Given the description of an element on the screen output the (x, y) to click on. 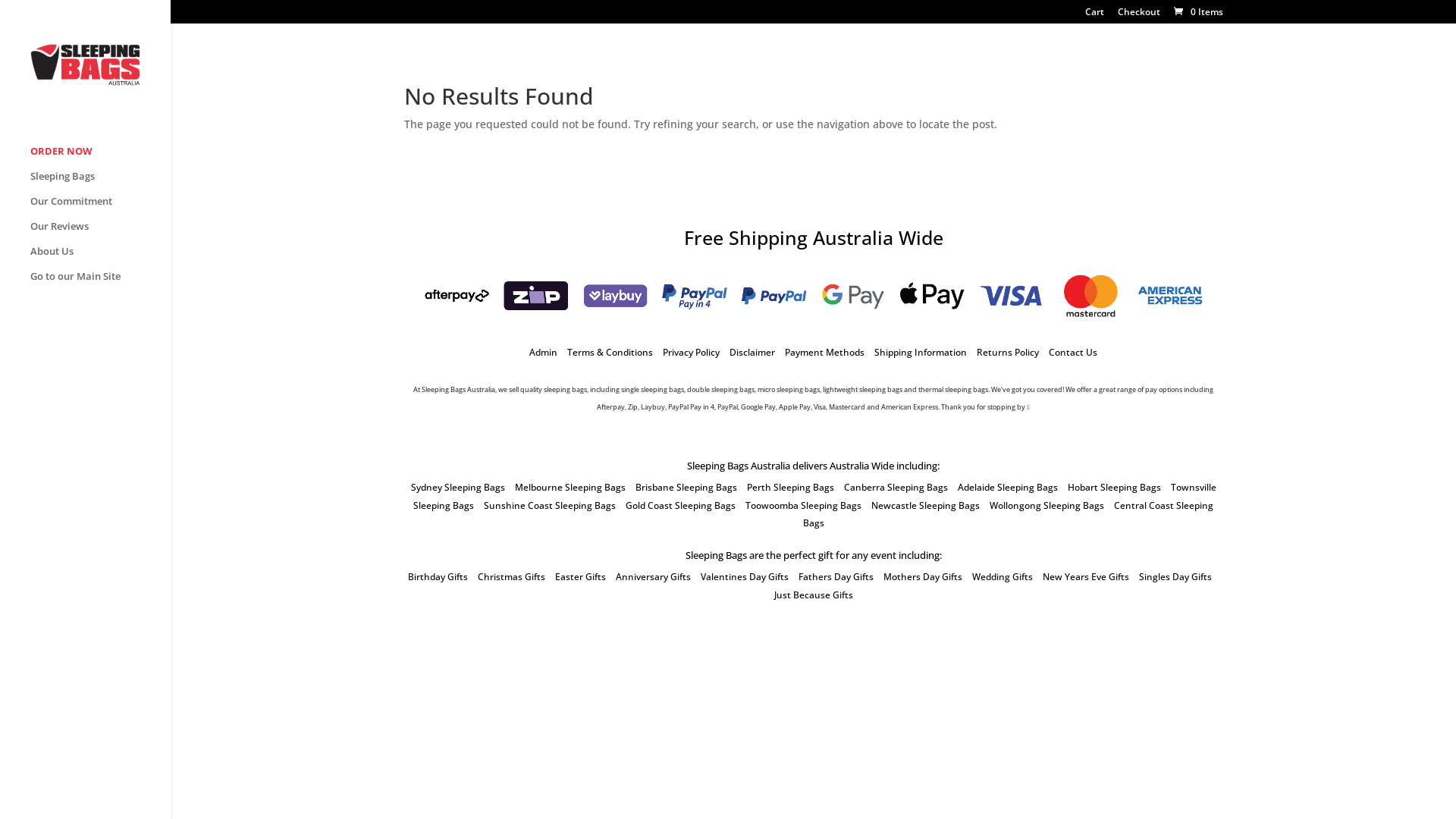
Townsville Sleeping Bags Element type: text (814, 495)
Easter Gifts Element type: text (580, 576)
Central Coast Sleeping Bags Element type: text (1007, 514)
Perth Sleeping Bags Element type: text (789, 486)
Our Reviews Element type: text (100, 232)
Admin Element type: text (543, 351)
Sleeping Bags Element type: text (100, 182)
Melbourne Sleeping Bags Element type: text (569, 486)
0 Items Element type: text (1196, 11)
Christmas Gifts Element type: text (511, 576)
Disclaimer Element type: text (752, 351)
Wollongong Sleeping Bags Element type: text (1046, 504)
Our Commitment Element type: text (100, 207)
Singles Day Gifts Element type: text (1175, 576)
Sunshine Coast Sleeping Bags Element type: text (549, 504)
Checkout Element type: text (1138, 15)
Mothers Day Gifts Element type: text (921, 576)
About Us Element type: text (100, 257)
Just Because Gifts Element type: text (812, 594)
ORDER NOW Element type: text (100, 157)
Contact Us Element type: text (1072, 351)
Birthday Gifts Element type: text (437, 576)
Cart Element type: text (1093, 15)
Terms & Conditions Element type: text (609, 351)
Returns Policy Element type: text (1007, 351)
Go to our Main Site Element type: text (100, 282)
Anniversary Gifts Element type: text (652, 576)
Toowoomba Sleeping Bags Element type: text (803, 504)
Sydney Sleeping Bags Element type: text (458, 486)
Wedding Gifts Element type: text (1002, 576)
Hobart Sleeping Bags Element type: text (1114, 486)
Canberra Sleeping Bags Element type: text (895, 486)
Brisbane Sleeping Bags Element type: text (686, 486)
Gold Coast Sleeping Bags Element type: text (680, 504)
Valentines Day Gifts Element type: text (744, 576)
Newcastle Sleeping Bags Element type: text (925, 504)
Shipping Information Element type: text (920, 351)
Privacy Policy Element type: text (690, 351)
Fathers Day Gifts Element type: text (834, 576)
Adelaide Sleeping Bags Element type: text (1007, 486)
New Years Eve Gifts Element type: text (1084, 576)
Payment Methods Element type: text (824, 351)
